Given the description of an element on the screen output the (x, y) to click on. 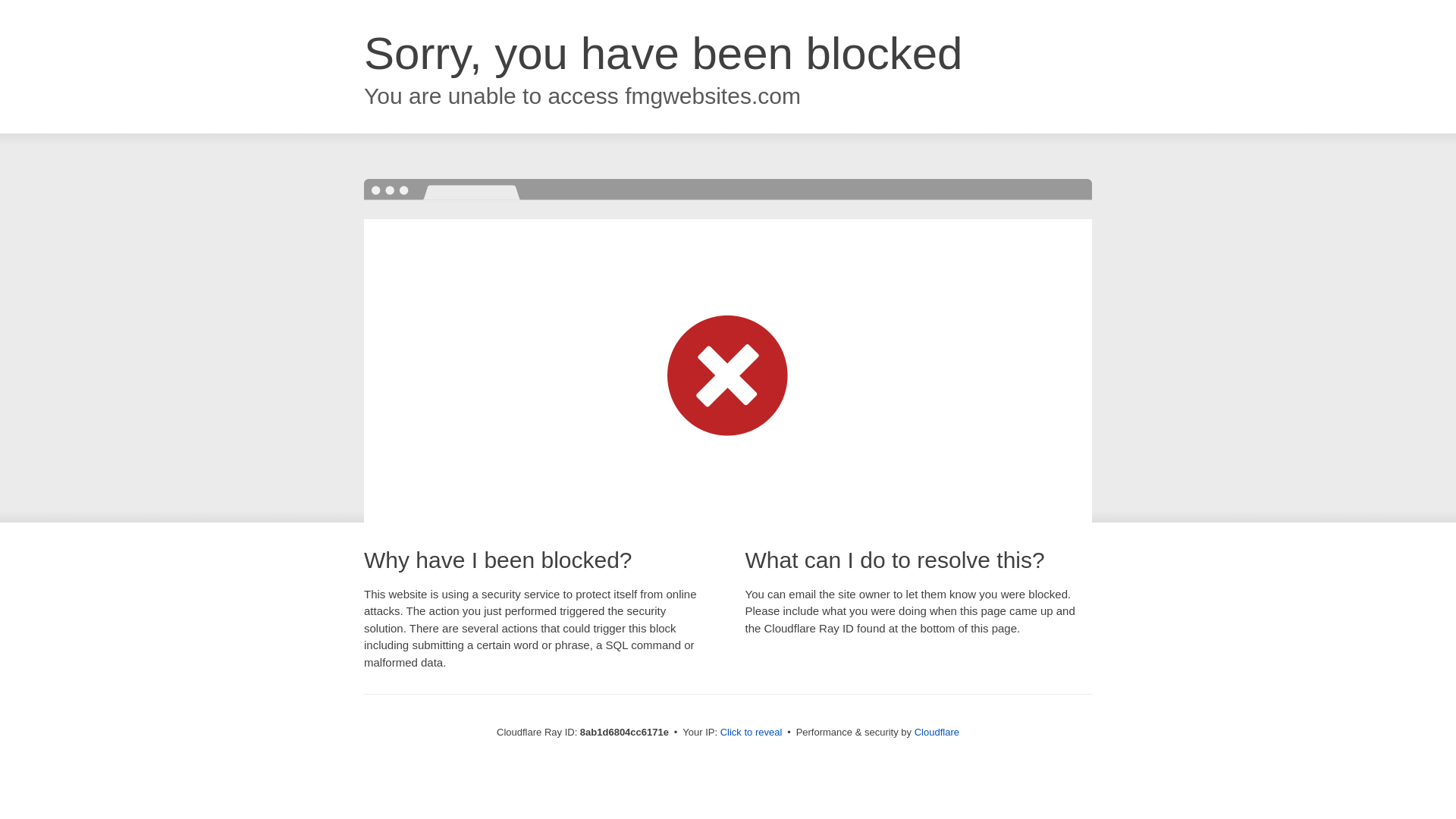
Click to reveal (751, 732)
Cloudflare (936, 731)
